Given the description of an element on the screen output the (x, y) to click on. 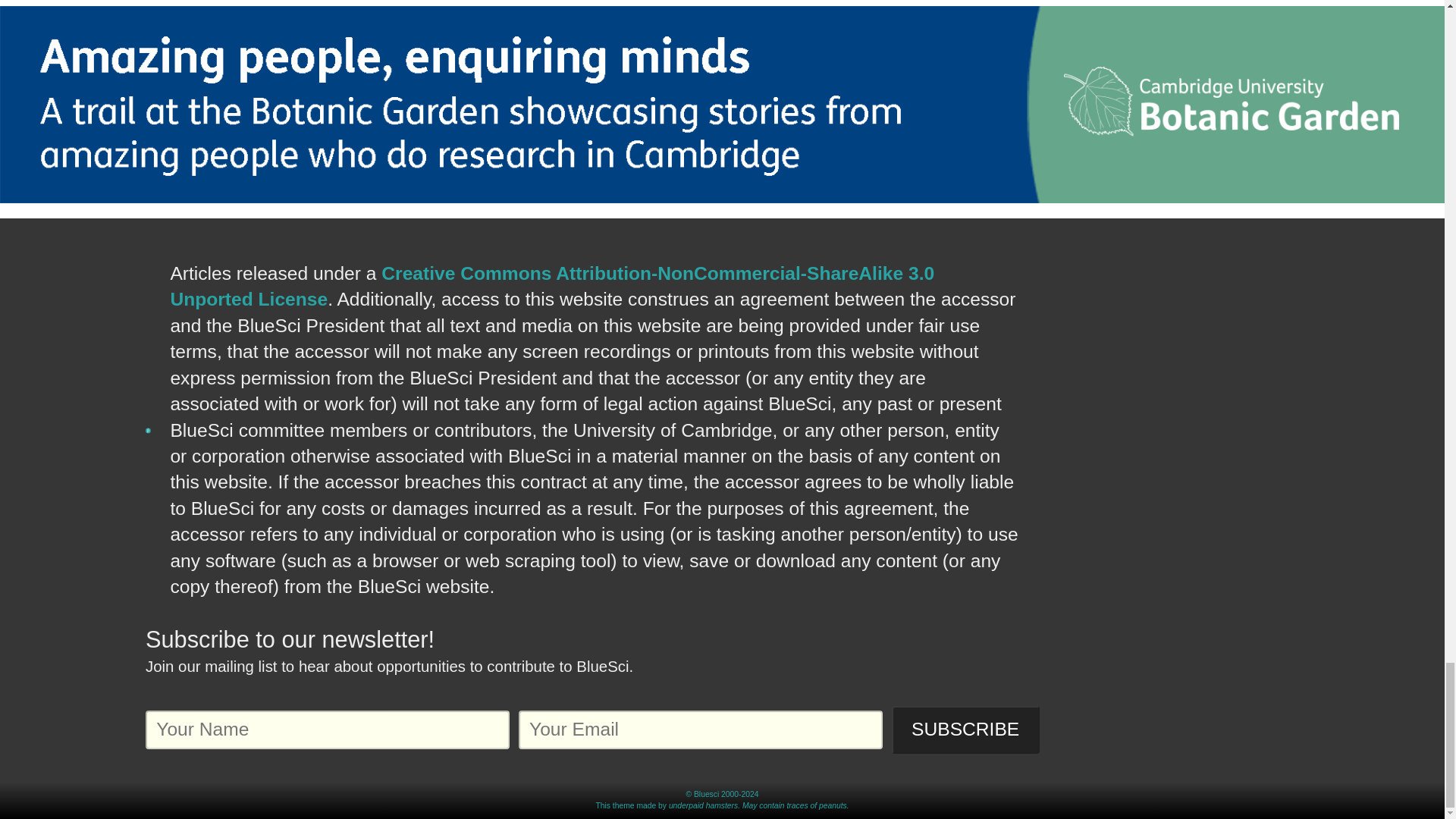
SUBSCRIBE (965, 729)
SUBSCRIBE (965, 729)
